Given the description of an element on the screen output the (x, y) to click on. 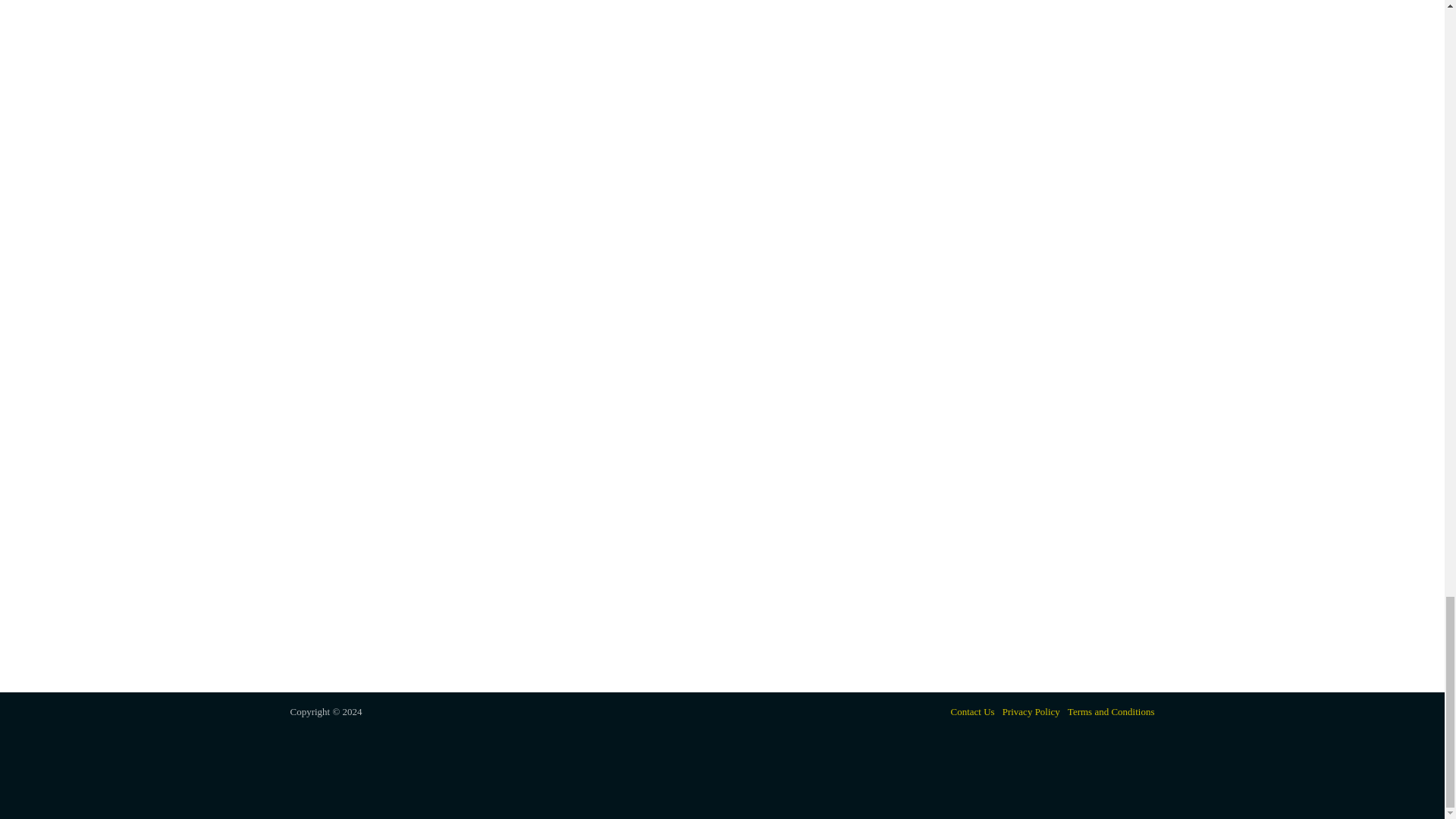
Privacy Policy (1031, 711)
Contact Us (972, 711)
Terms and Conditions (1110, 711)
